Given the description of an element on the screen output the (x, y) to click on. 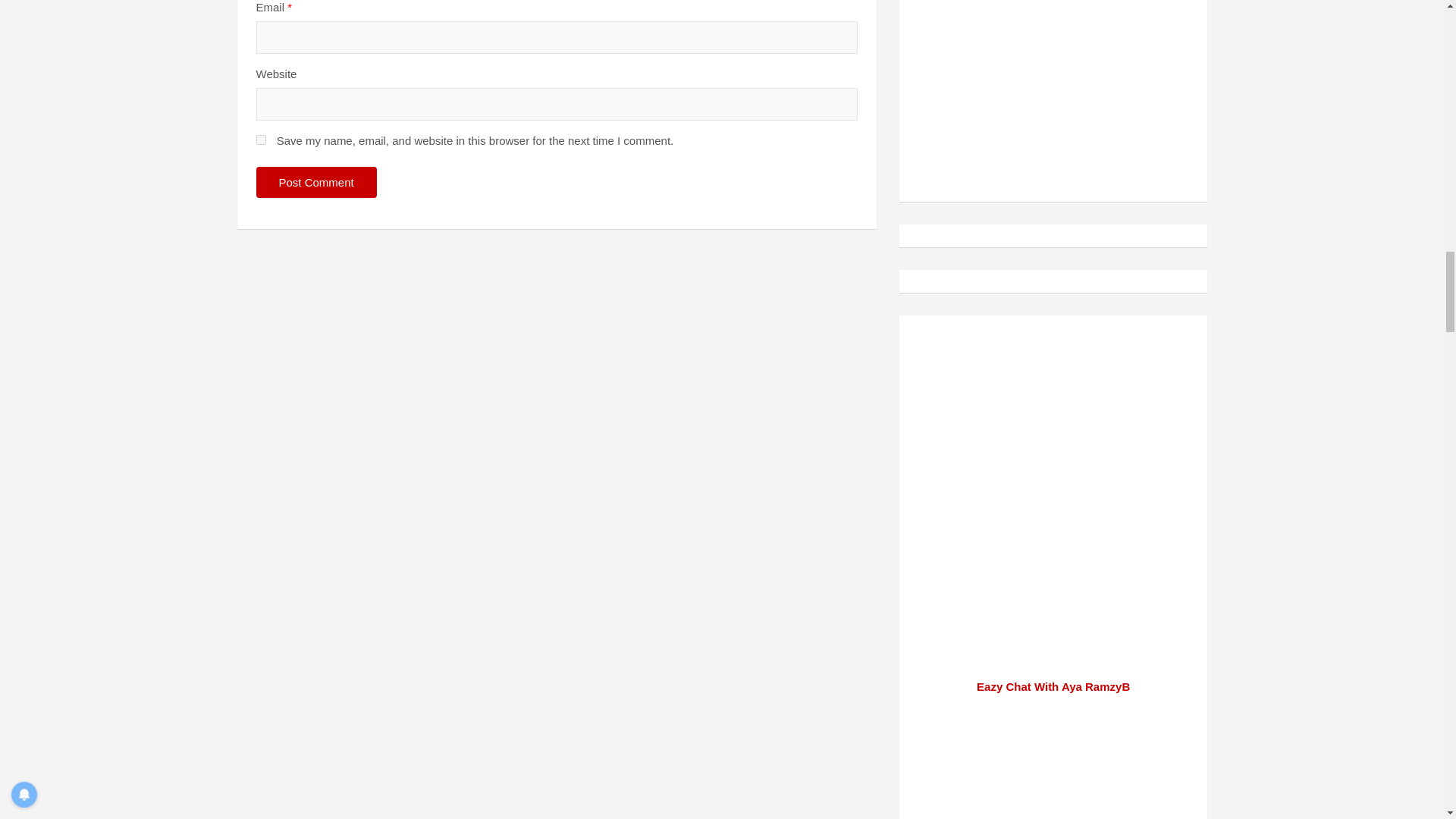
Post Comment (316, 182)
yes (261, 139)
